Given the description of an element on the screen output the (x, y) to click on. 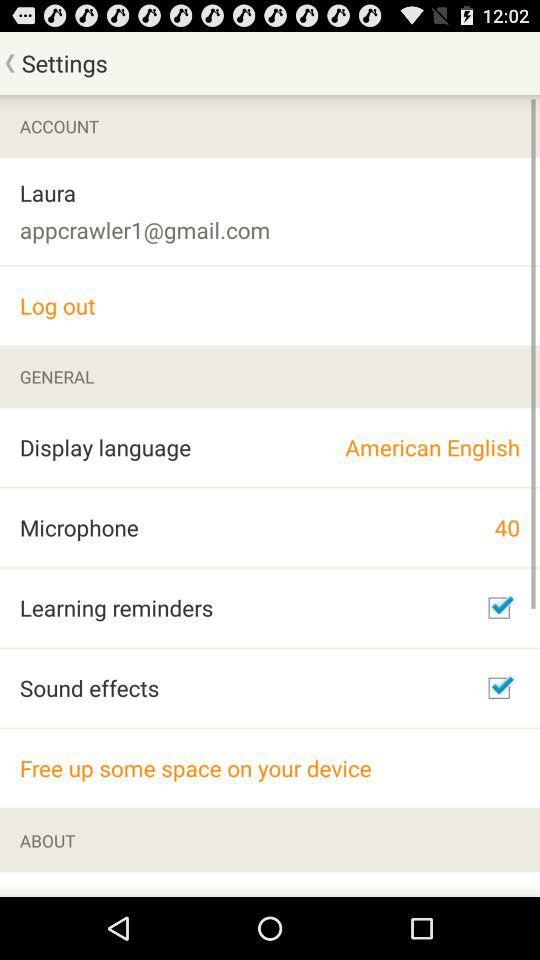
toggle checkbox (499, 607)
